Given the description of an element on the screen output the (x, y) to click on. 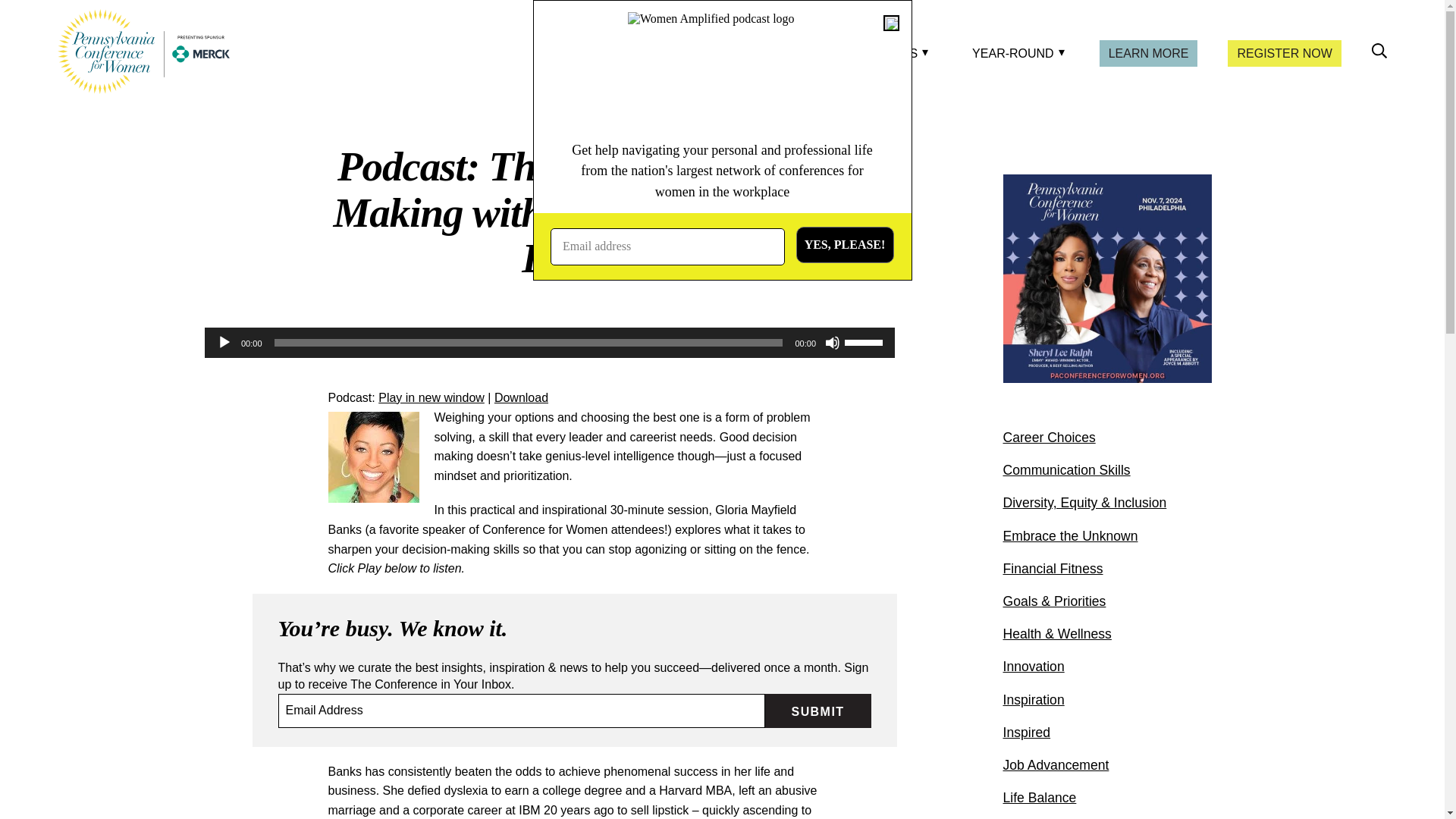
CONFERENCE (757, 53)
Download (521, 397)
PARTNERS (888, 53)
Mute (832, 342)
YEAR-ROUND (1015, 53)
LEARN MORE (1148, 53)
REGISTER NOW (1283, 53)
Play (223, 342)
Play in new window (431, 397)
ABOUT (639, 53)
